Given the description of an element on the screen output the (x, y) to click on. 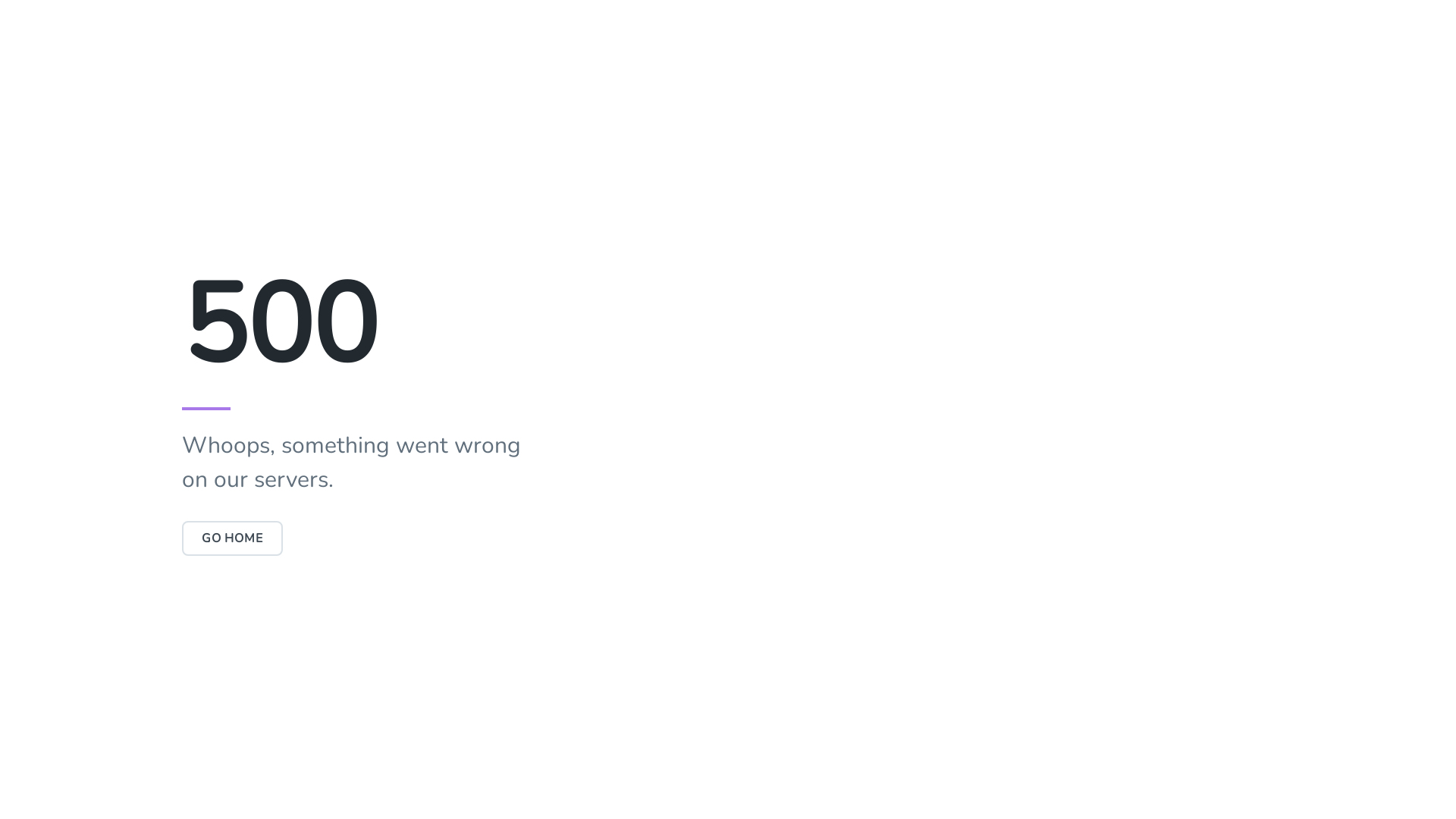
GO HOME Element type: text (232, 537)
GO HOME Element type: text (232, 538)
